Given the description of an element on the screen output the (x, y) to click on. 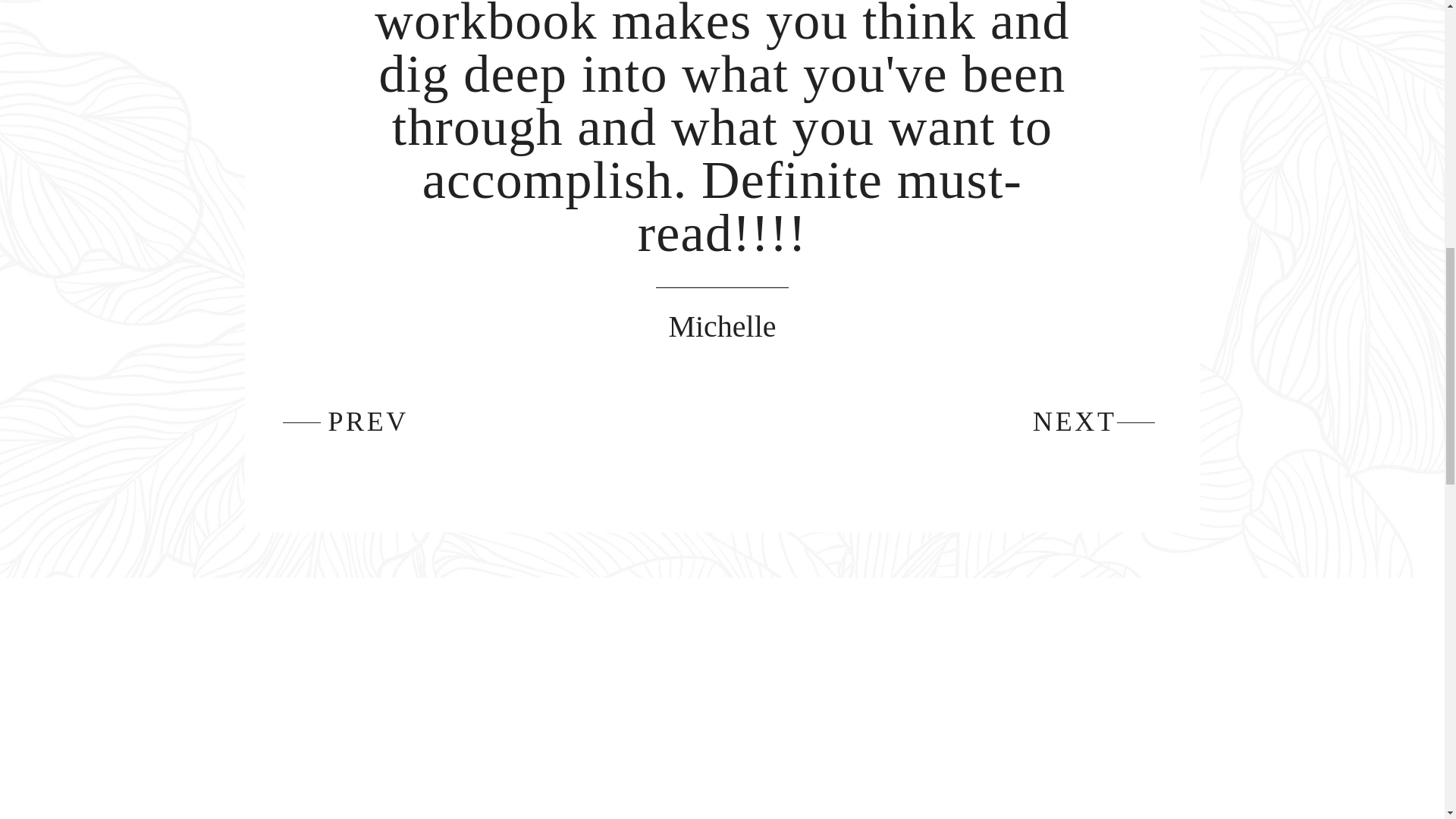
NEXT (1074, 421)
PREV (367, 421)
